Given the description of an element on the screen output the (x, y) to click on. 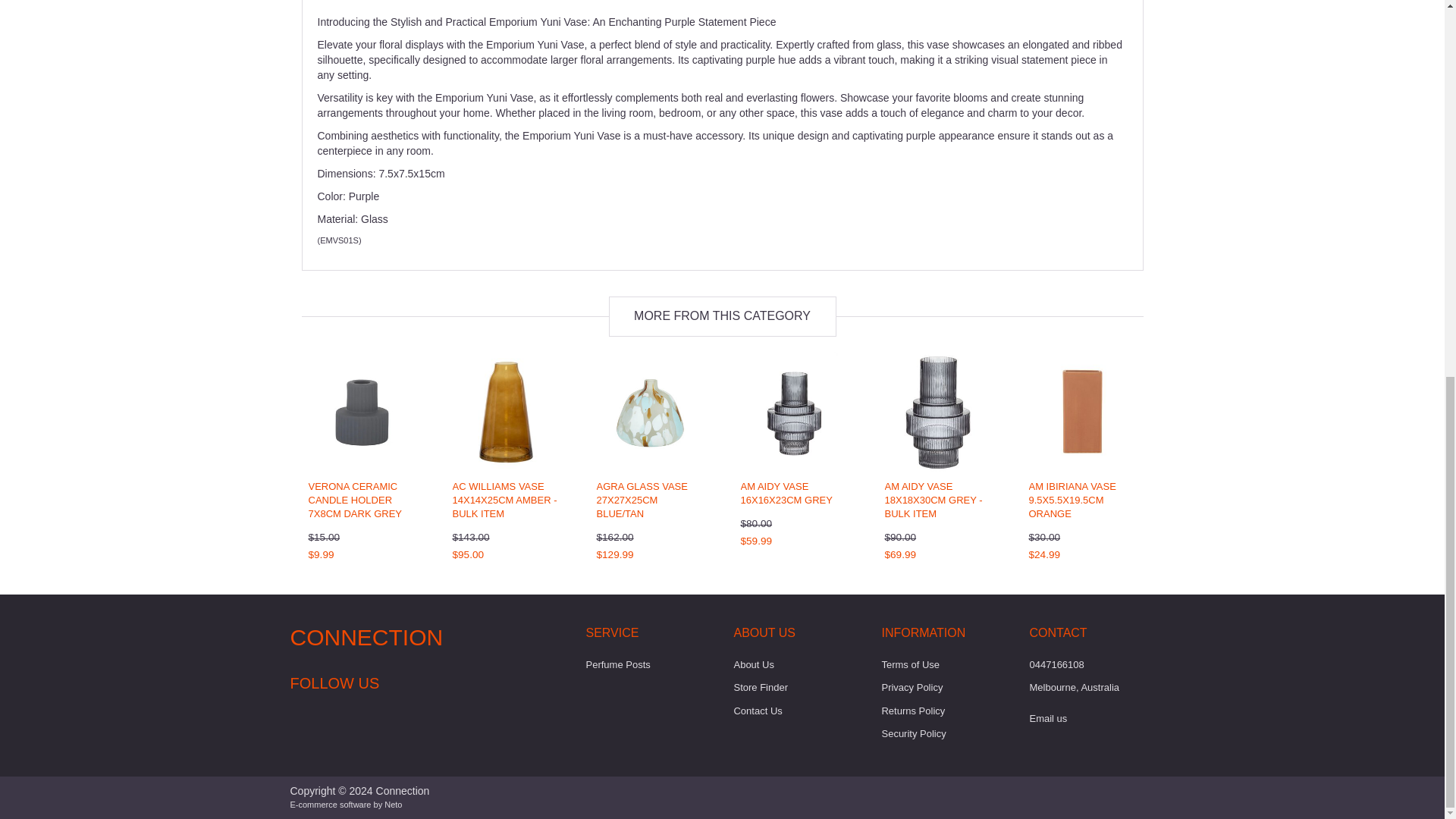
AM Aidy Vase 18x18x30cm Grey - BULK ITEM (932, 499)
AC Williams Vase 14x14x25cm Amber - BULK ITEM (503, 499)
Verona Ceramic Candle Holder 7x8cm Dark Grey (354, 499)
AM Aidy Vase 16x16x23cm Grey (785, 493)
AM Ibiriana Vase 9.5x5.5x19.5cm Orange (1071, 499)
